Given the description of an element on the screen output the (x, y) to click on. 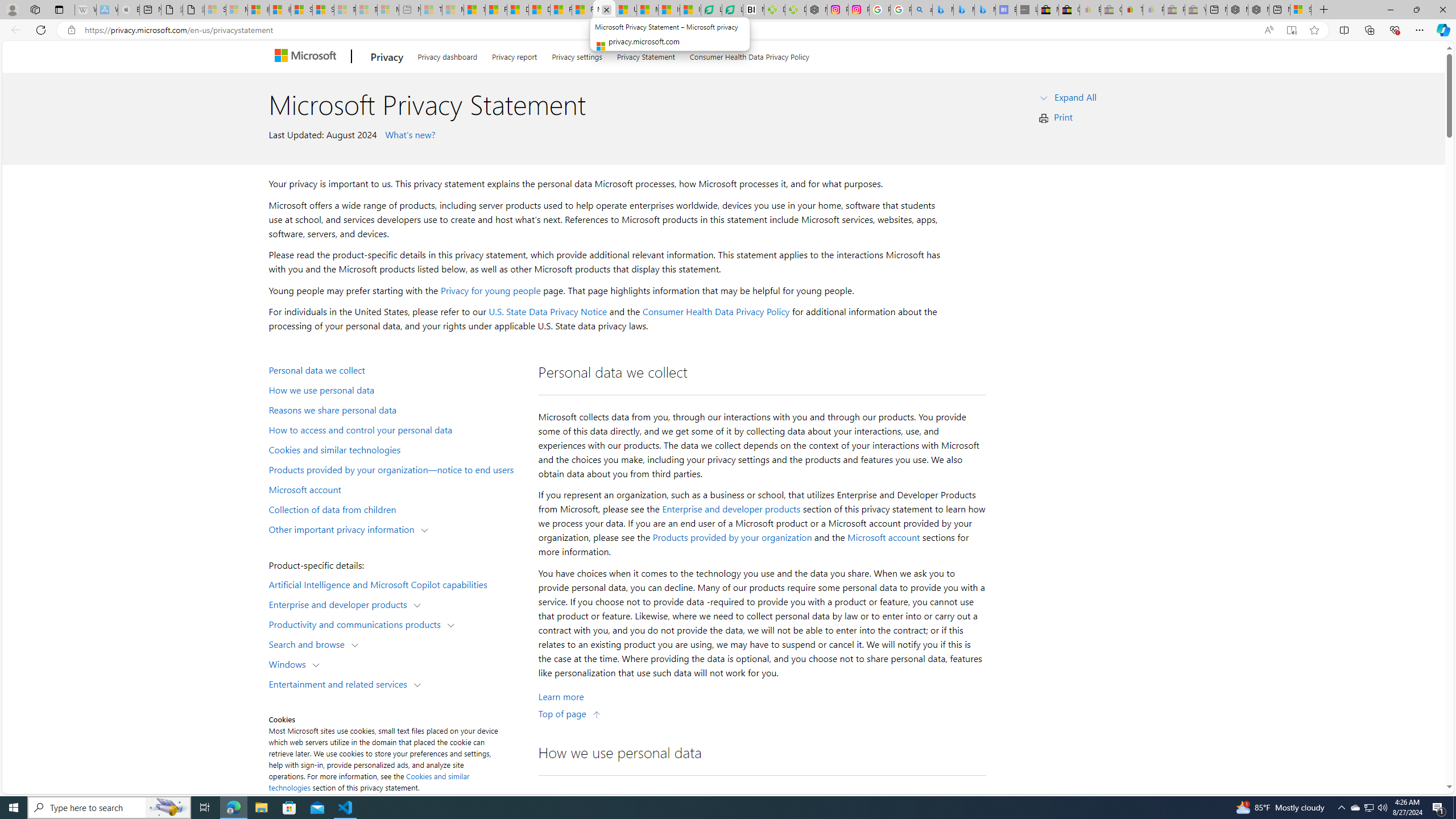
Microsoft Bing Travel - Shangri-La Hotel Bangkok (984, 9)
Top of page (569, 713)
Top Stories - MSN - Sleeping (431, 9)
Microsoft account | Account Checkup - Sleeping (387, 9)
Artificial Intelligence and Microsoft Copilot capabilities (395, 583)
Cookies and similar technologies (368, 780)
Press Room - eBay Inc. - Sleeping (1173, 9)
Consumer Health Data Privacy Policy (716, 311)
